Given the description of an element on the screen output the (x, y) to click on. 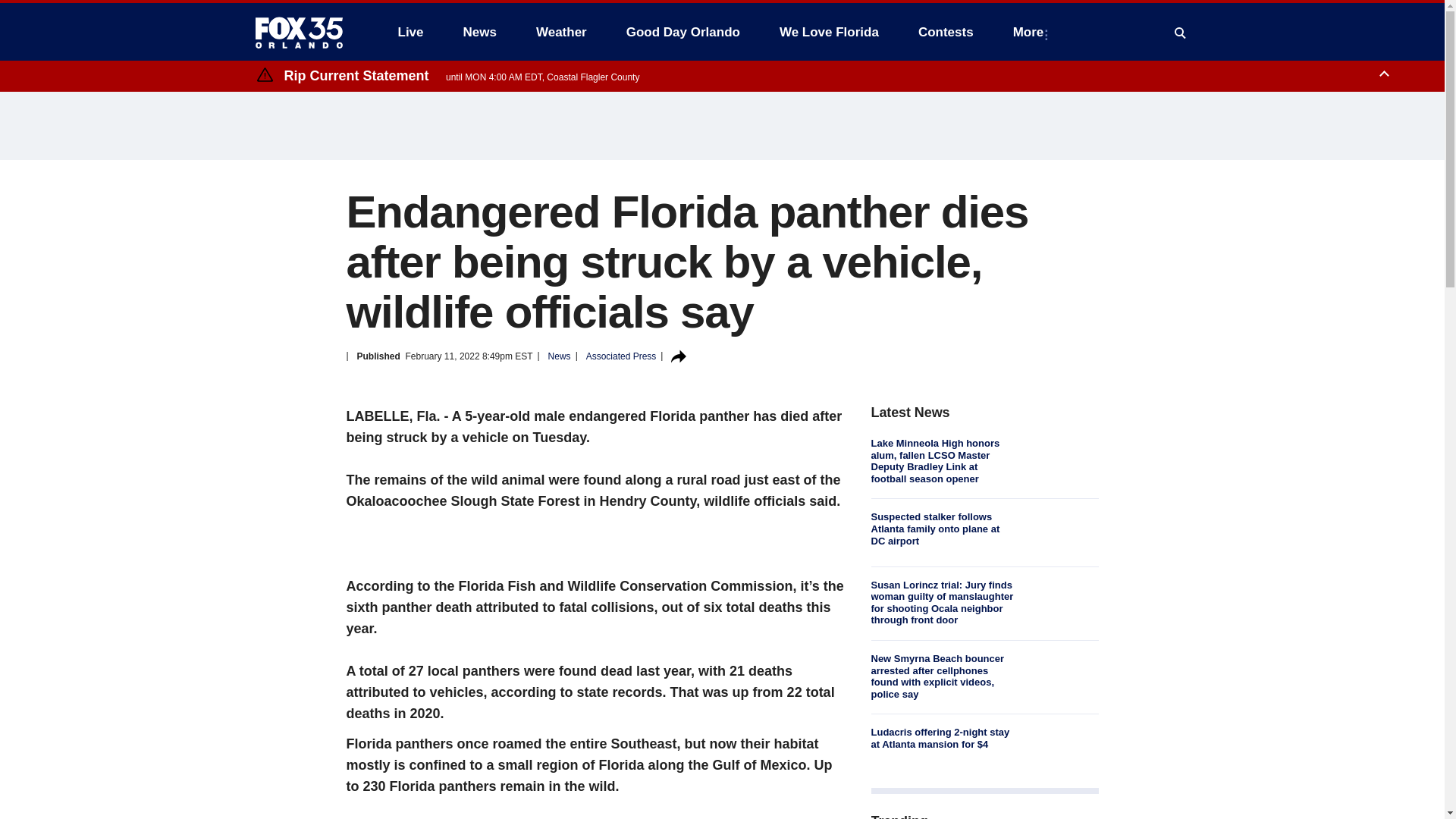
We Love Florida (829, 32)
News (479, 32)
More (1031, 32)
Contests (945, 32)
Live (410, 32)
Good Day Orlando (683, 32)
Weather (561, 32)
